Given the description of an element on the screen output the (x, y) to click on. 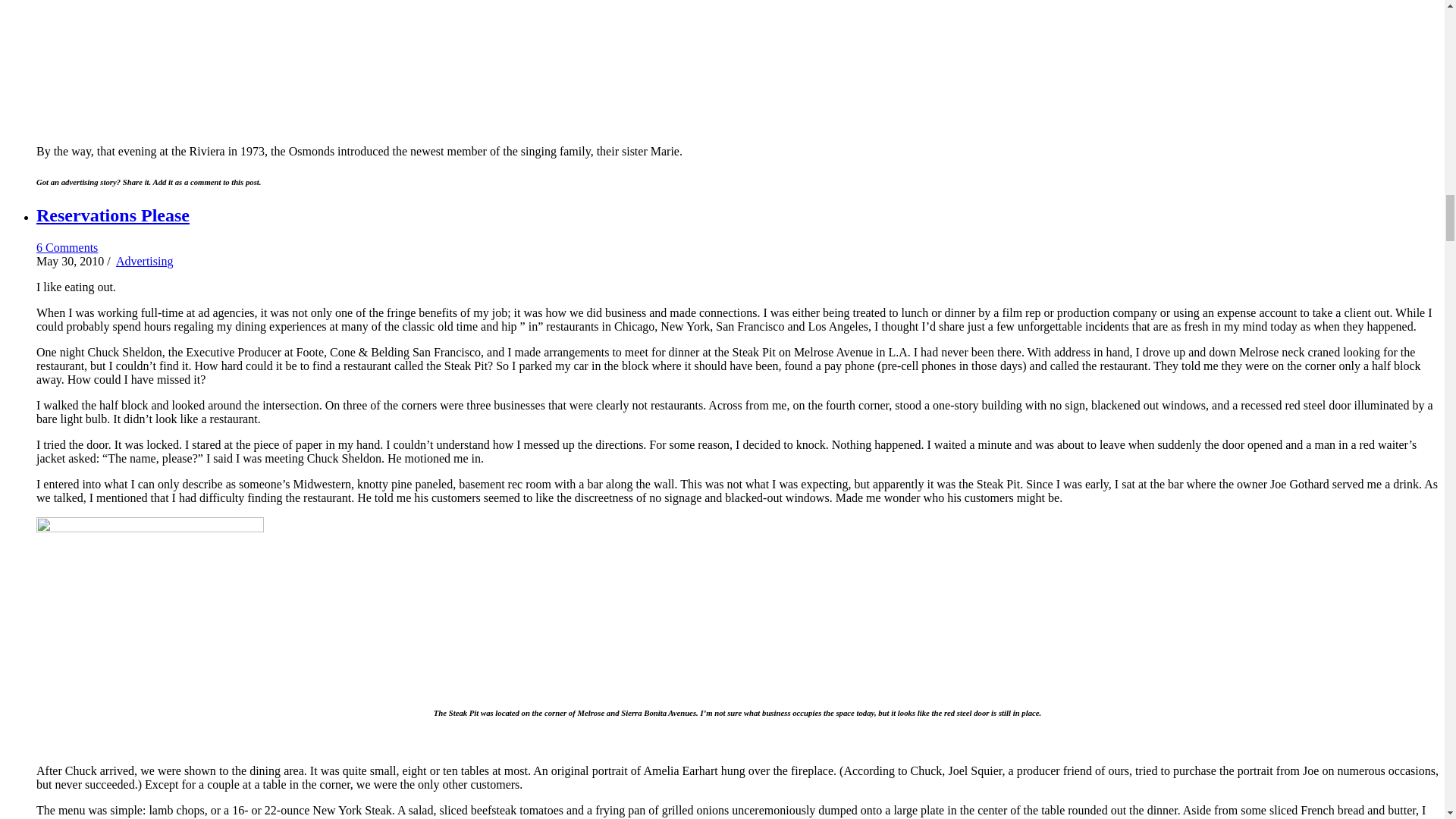
Reservations Please (112, 215)
Permalink to: Reservations Please (112, 215)
steak-pitcu (149, 602)
Advertising (144, 260)
6 Comments (66, 246)
tbs1272osmonds (182, 66)
